Given the description of an element on the screen output the (x, y) to click on. 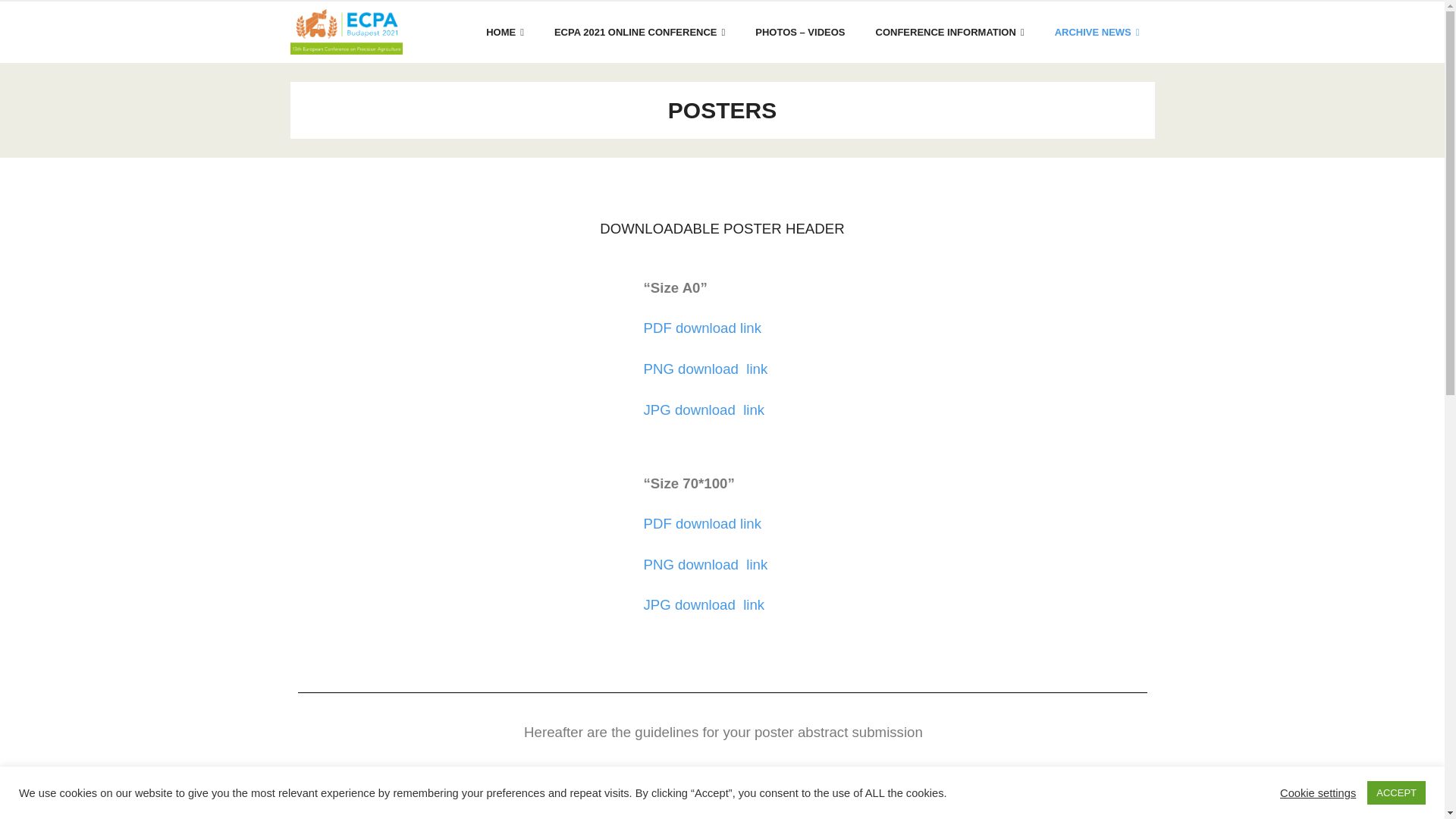
HOME (504, 32)
ECPA 2021 ONLINE CONFERENCE (638, 32)
CONFERENCE INFORMATION (949, 32)
ARCHIVE NEWS (1096, 32)
